Given the description of an element on the screen output the (x, y) to click on. 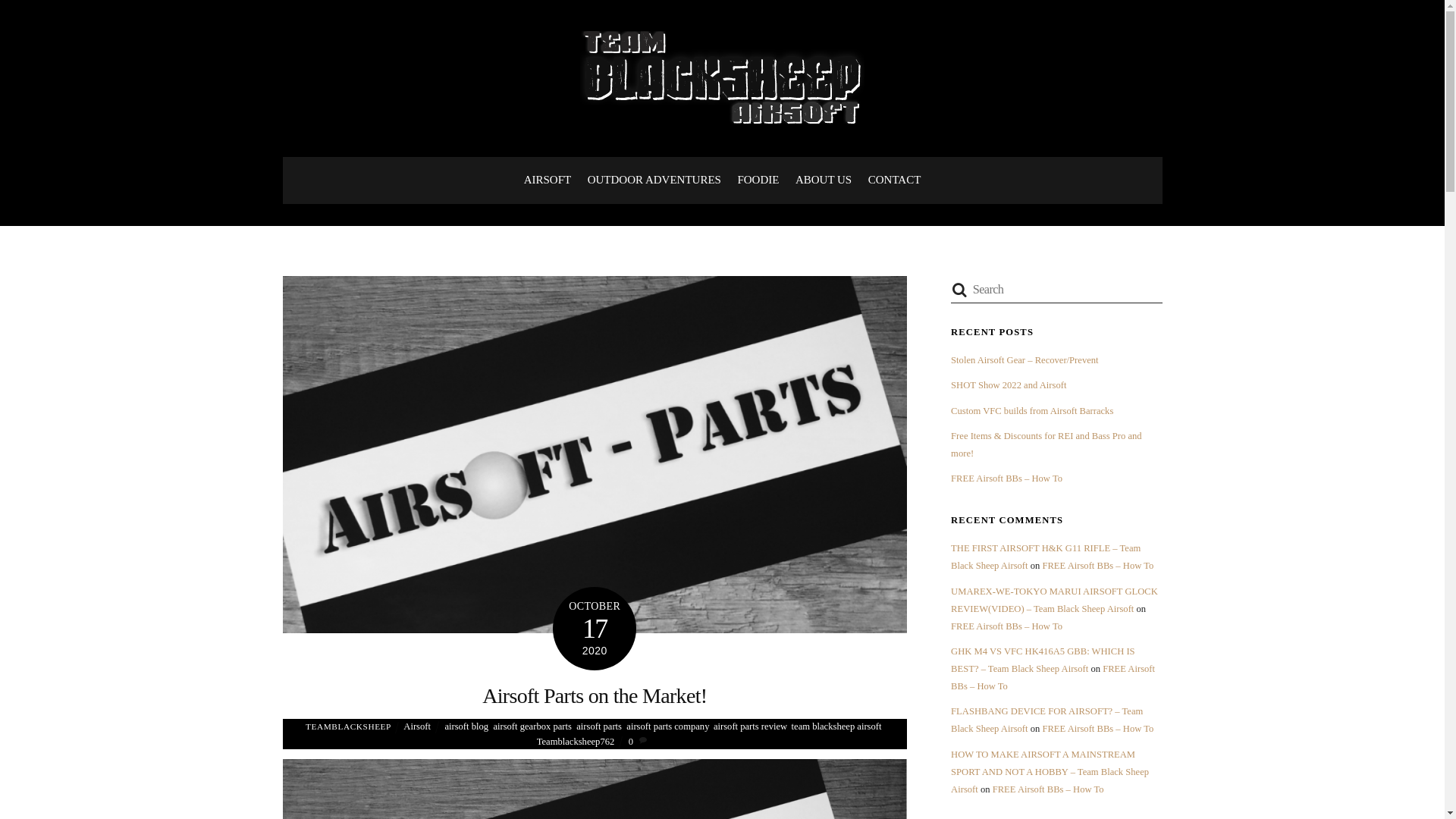
airsoft parts (598, 726)
airsoft parts review (749, 726)
ABOUT US (824, 179)
airsoft gearbox parts (532, 726)
airsoft parts company (666, 726)
AIRSOFT (547, 179)
TEAMBLACKSHEEP (348, 726)
Teamblacksheep762 (575, 741)
Team Black Sheep Airsoft (721, 77)
Team Black Sheep Airsoft (721, 117)
